Given the description of an element on the screen output the (x, y) to click on. 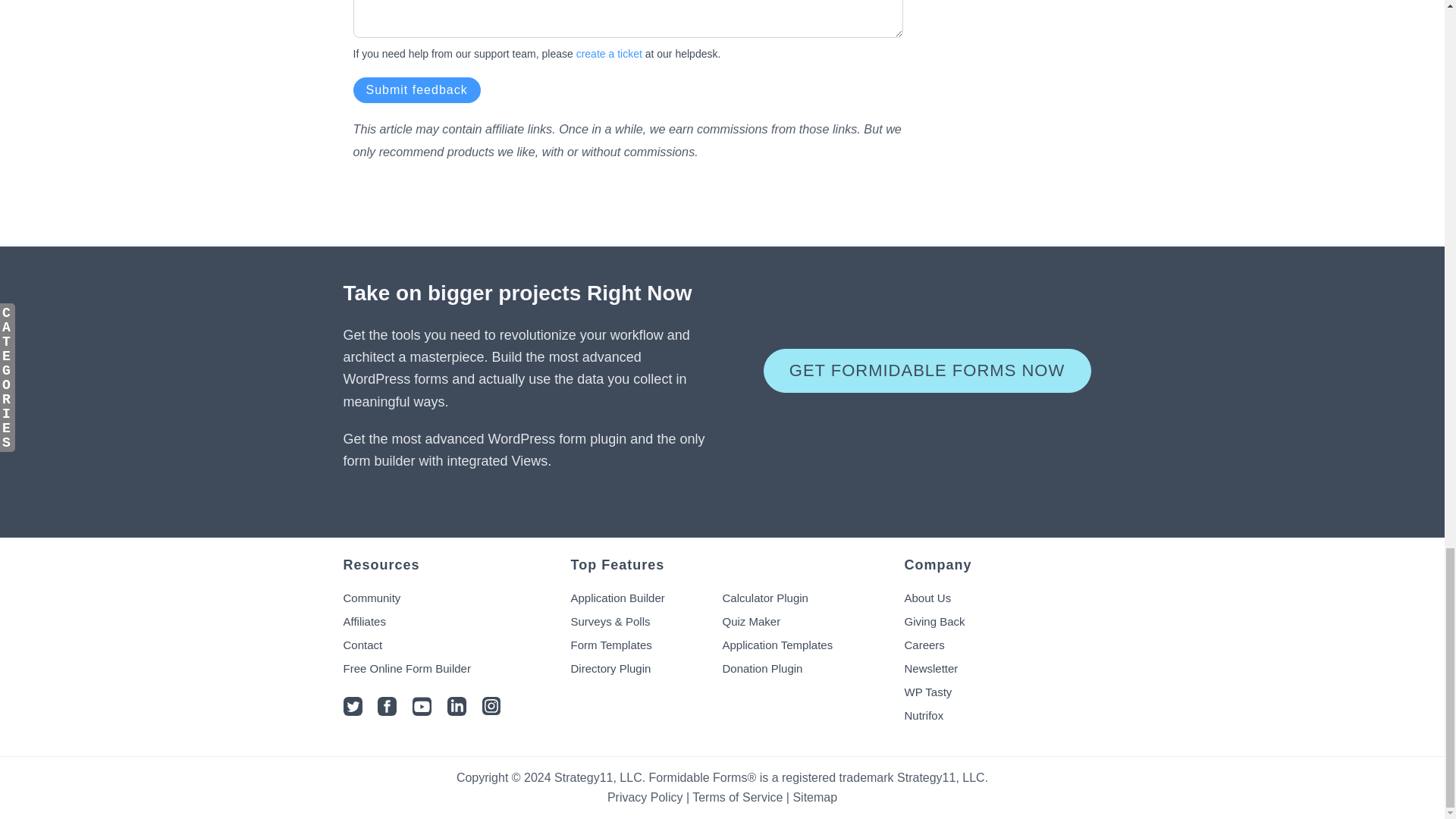
Create a Ticket (609, 53)
Instagram (490, 711)
Twitter (351, 711)
YouTube (421, 711)
Linkedin (455, 711)
Facebook (386, 711)
Get Formidable Forms Now (926, 370)
